Given the description of an element on the screen output the (x, y) to click on. 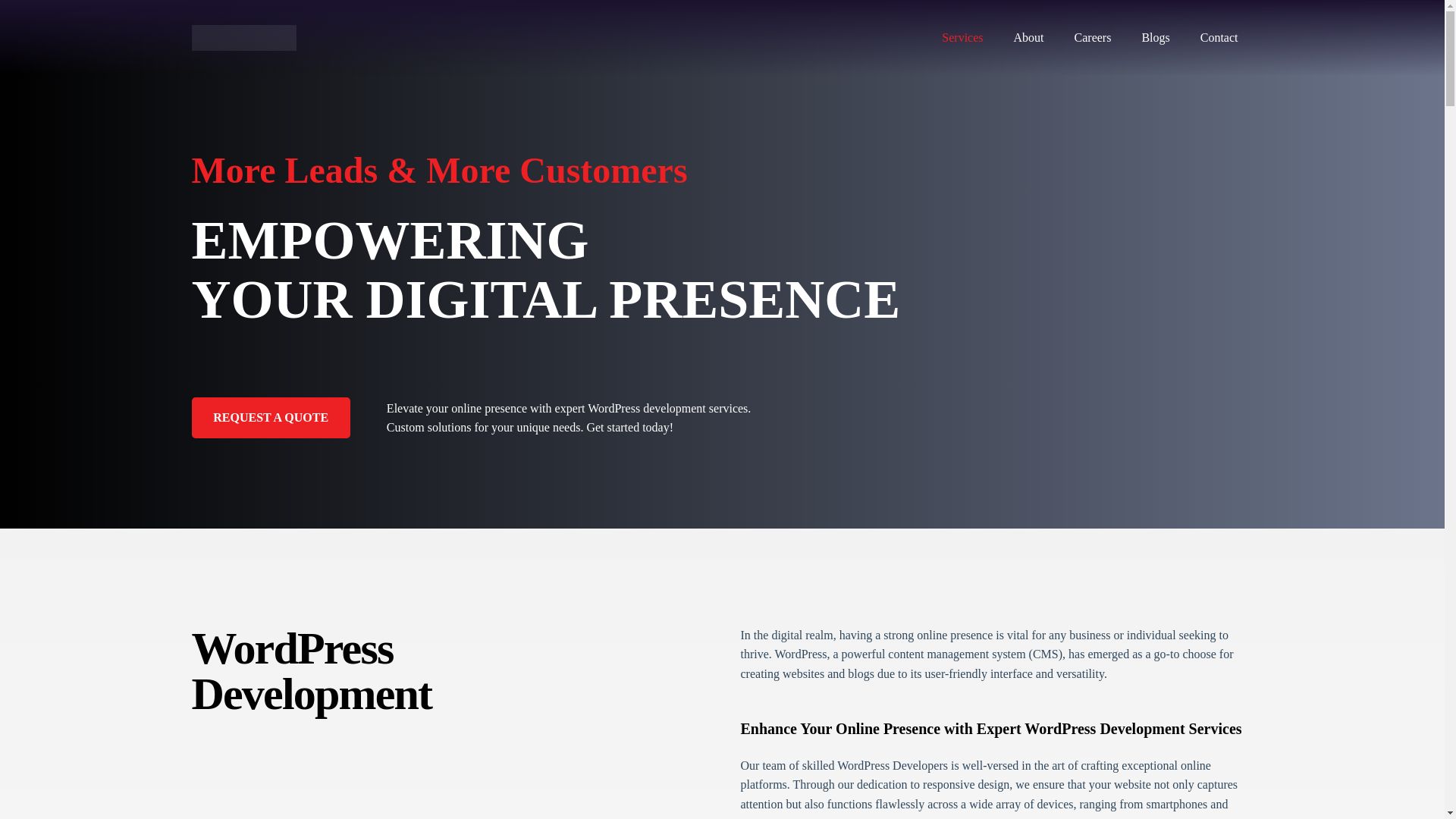
Services (961, 38)
Careers (1092, 38)
REQUEST A QUOTE (269, 417)
Contact (1219, 38)
